Given the description of an element on the screen output the (x, y) to click on. 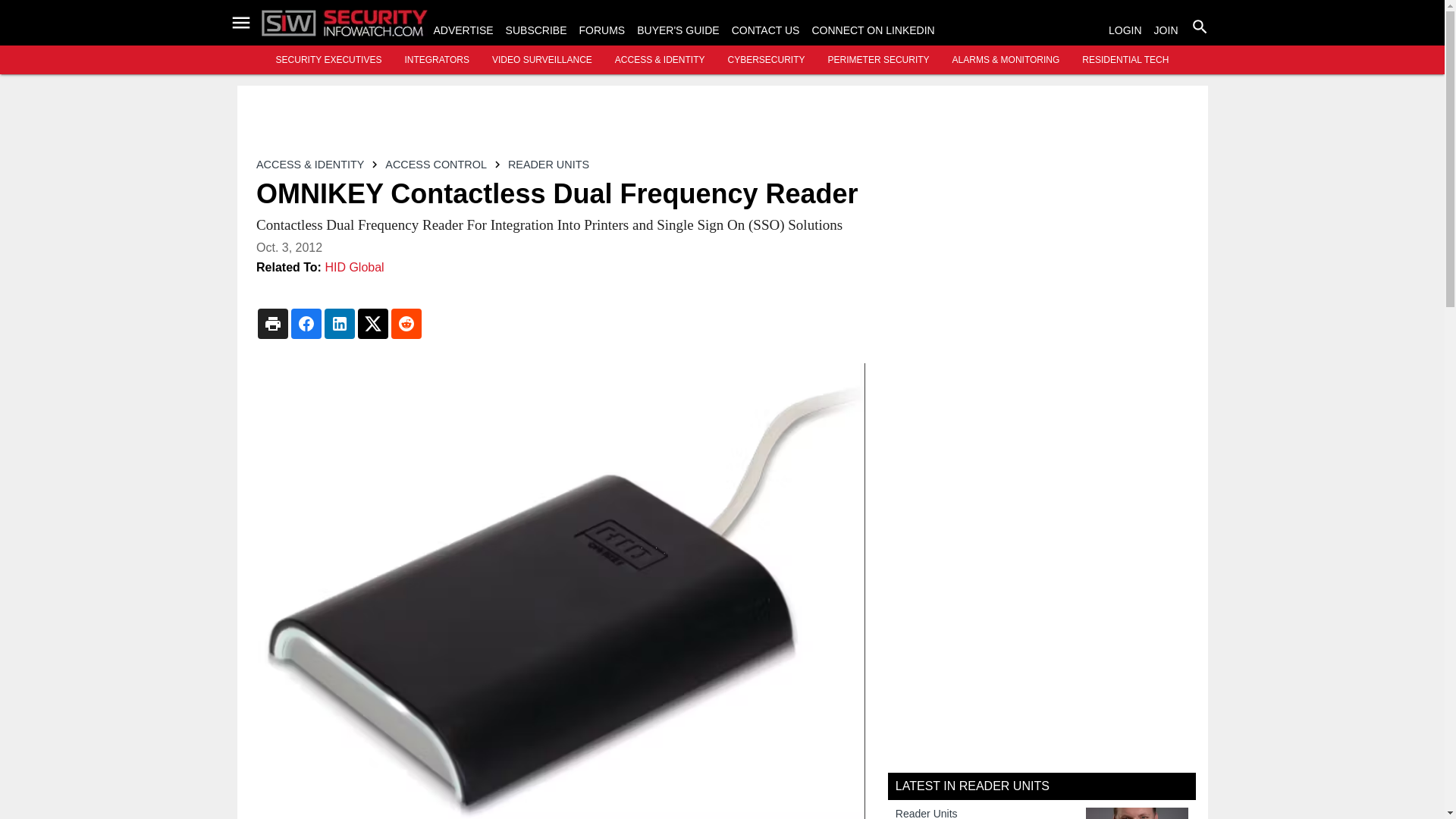
CYBERSECURITY (766, 59)
INTEGRATORS (436, 59)
CONNECT ON LINKEDIN (872, 30)
ADVERTISE (463, 30)
BUYER'S GUIDE (678, 30)
RESIDENTIAL TECH (1125, 59)
JOIN (1165, 30)
SUBSCRIBE (536, 30)
CONTACT US (765, 30)
FORUMS (602, 30)
